Given the description of an element on the screen output the (x, y) to click on. 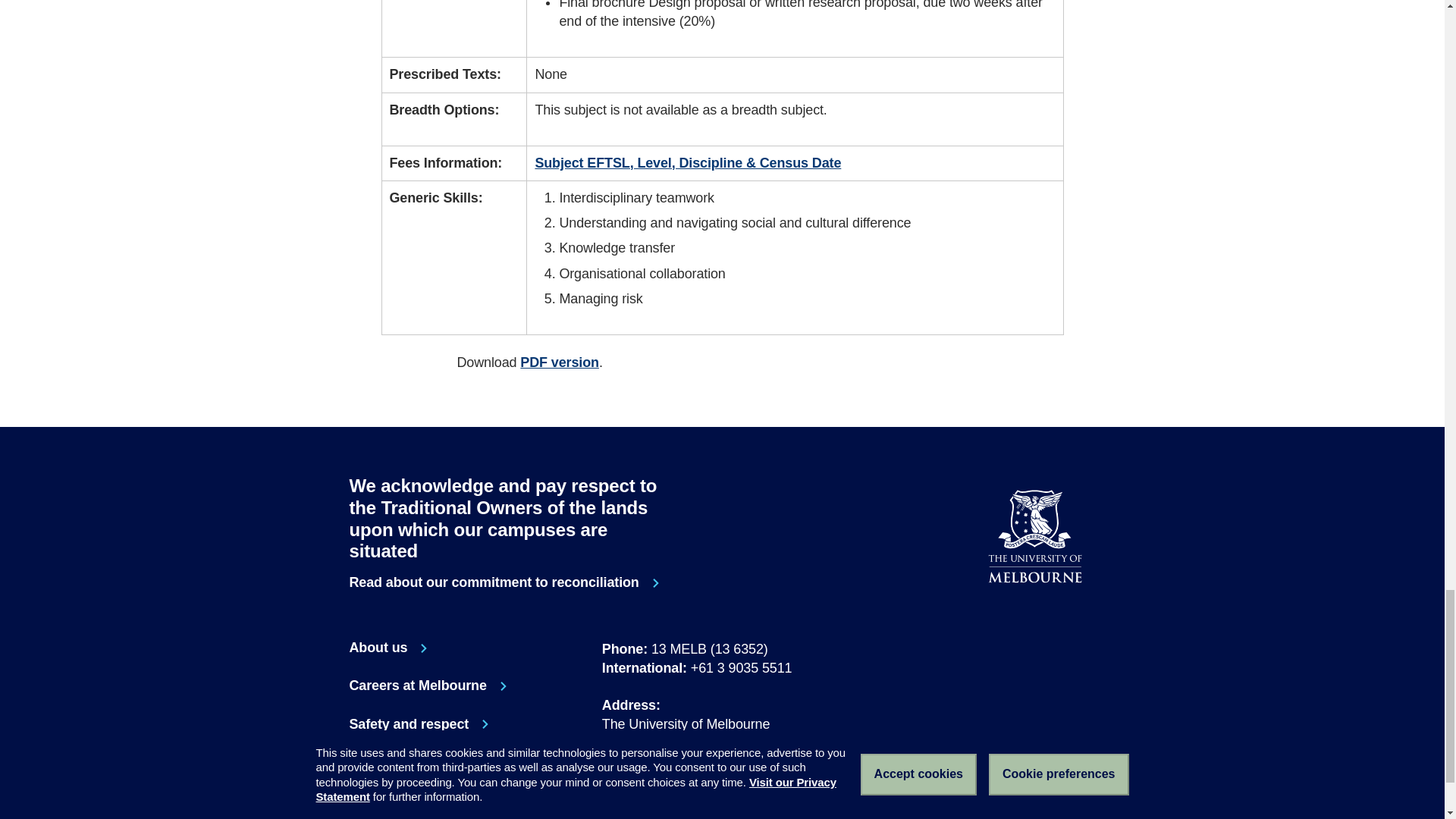
About us (988, 621)
PDF version (388, 647)
Read about our commitment to reconciliation (558, 362)
Careers at Melbourne (1048, 621)
View all Campus locations (506, 582)
Newsroom (427, 686)
Safety and respect (722, 799)
Contact (394, 762)
